Given the description of an element on the screen output the (x, y) to click on. 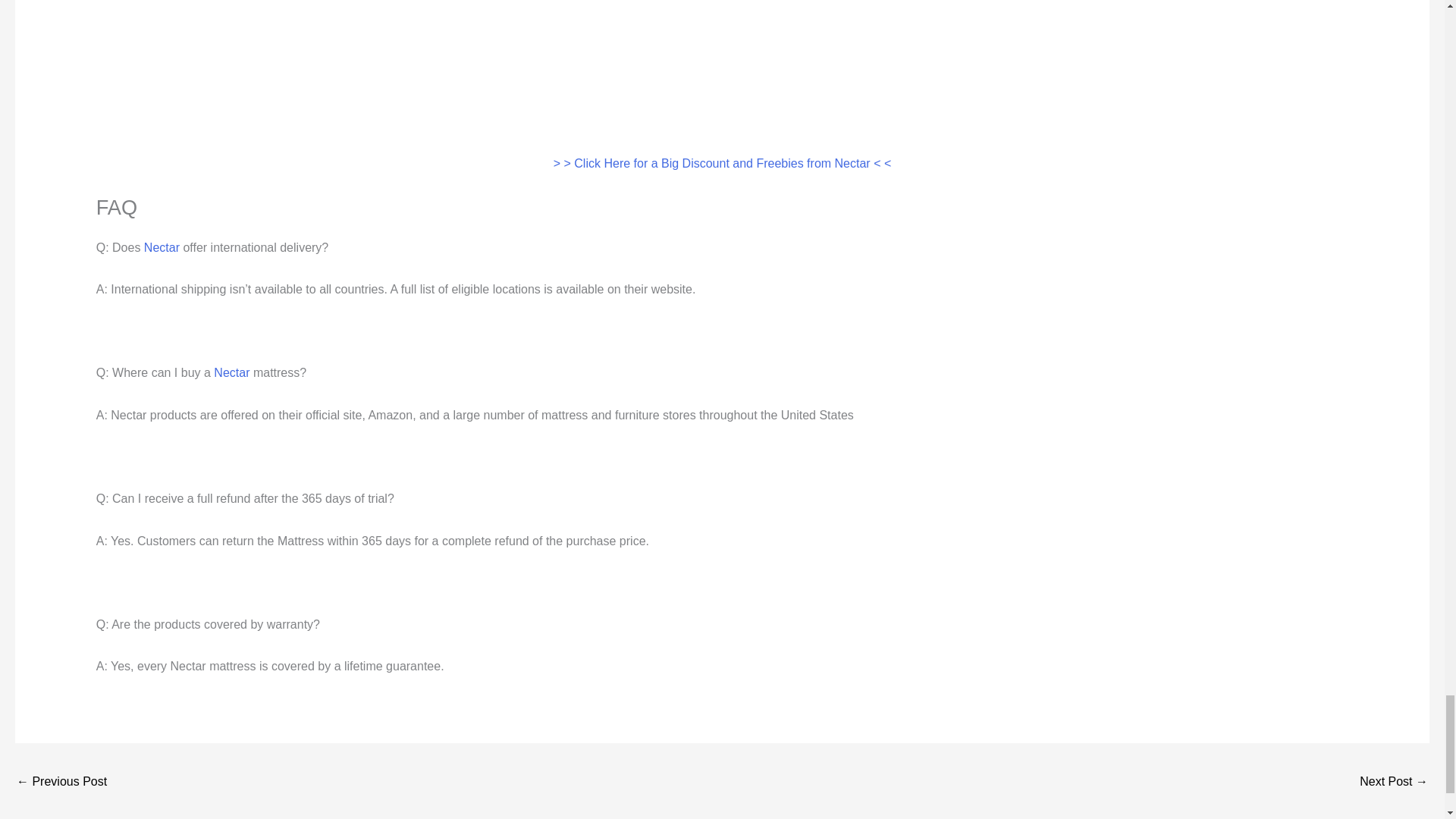
Nectar (161, 246)
Nectar (231, 372)
Nectar Mattress John Lewis (1393, 782)
Nectar Bed Frame Warranty (61, 782)
